Given the description of an element on the screen output the (x, y) to click on. 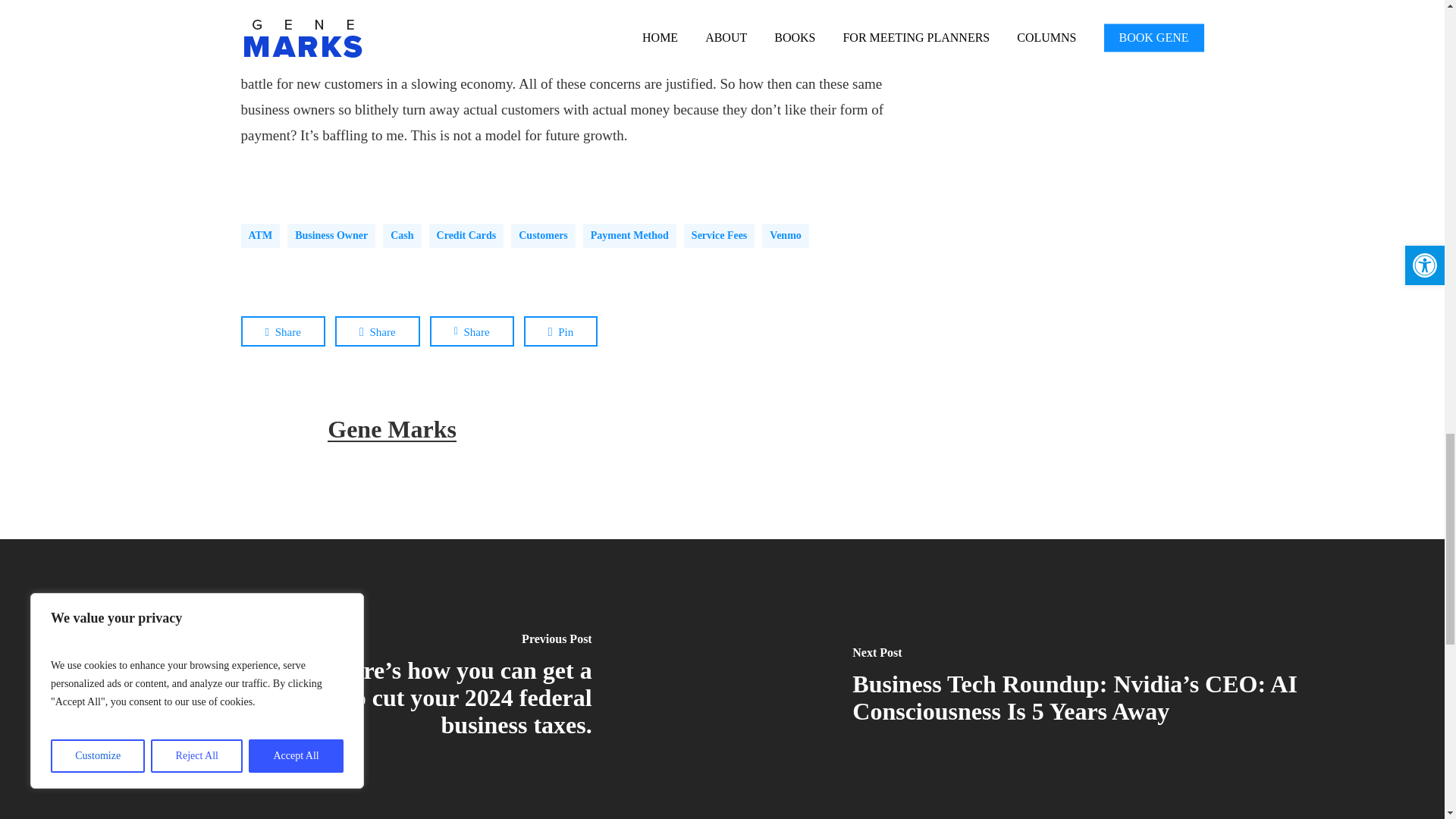
Share this (377, 330)
Pin this (561, 330)
Share this (471, 330)
Share this (282, 330)
